Given the description of an element on the screen output the (x, y) to click on. 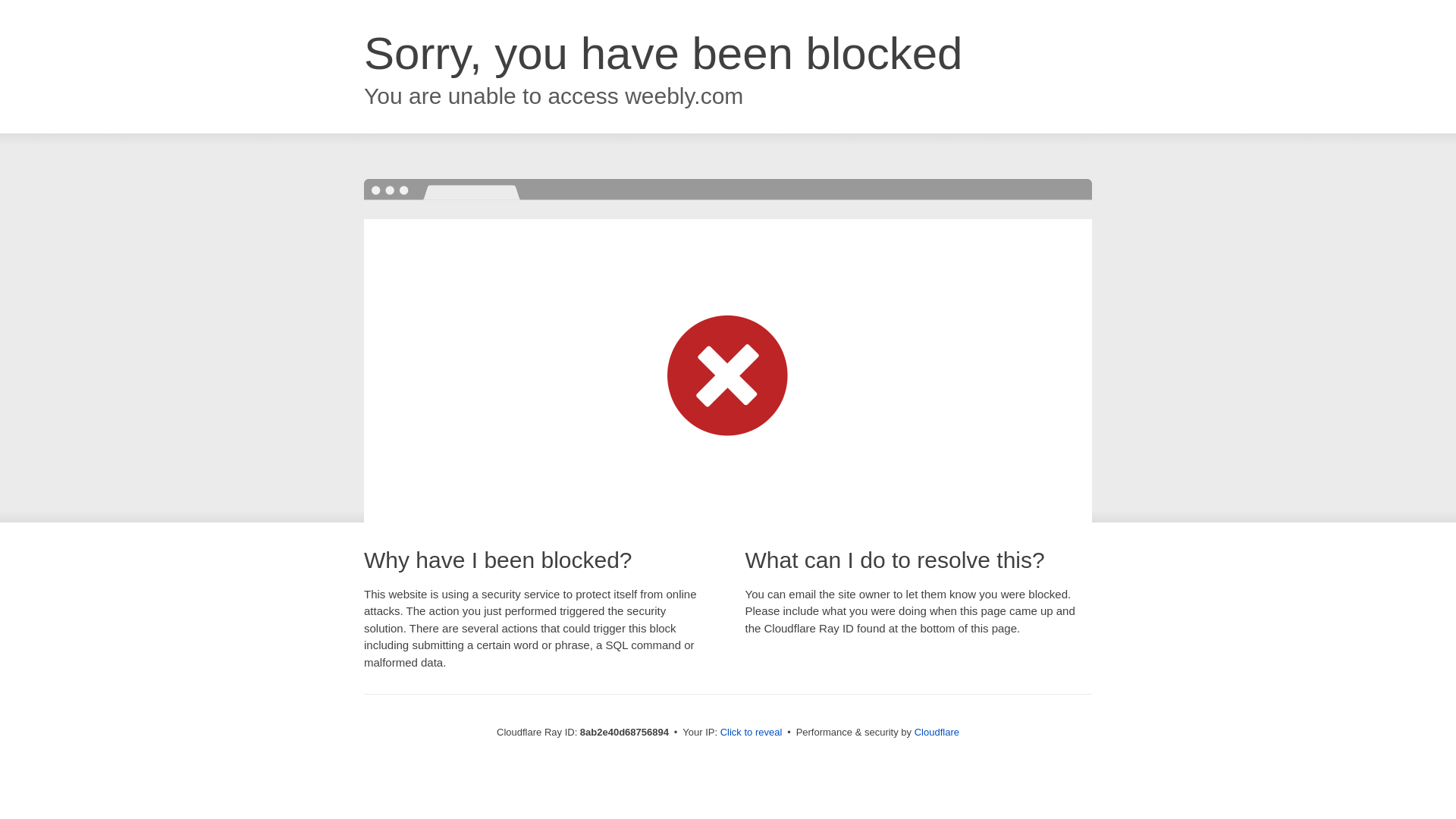
Cloudflare (936, 731)
Click to reveal (751, 732)
